Given the description of an element on the screen output the (x, y) to click on. 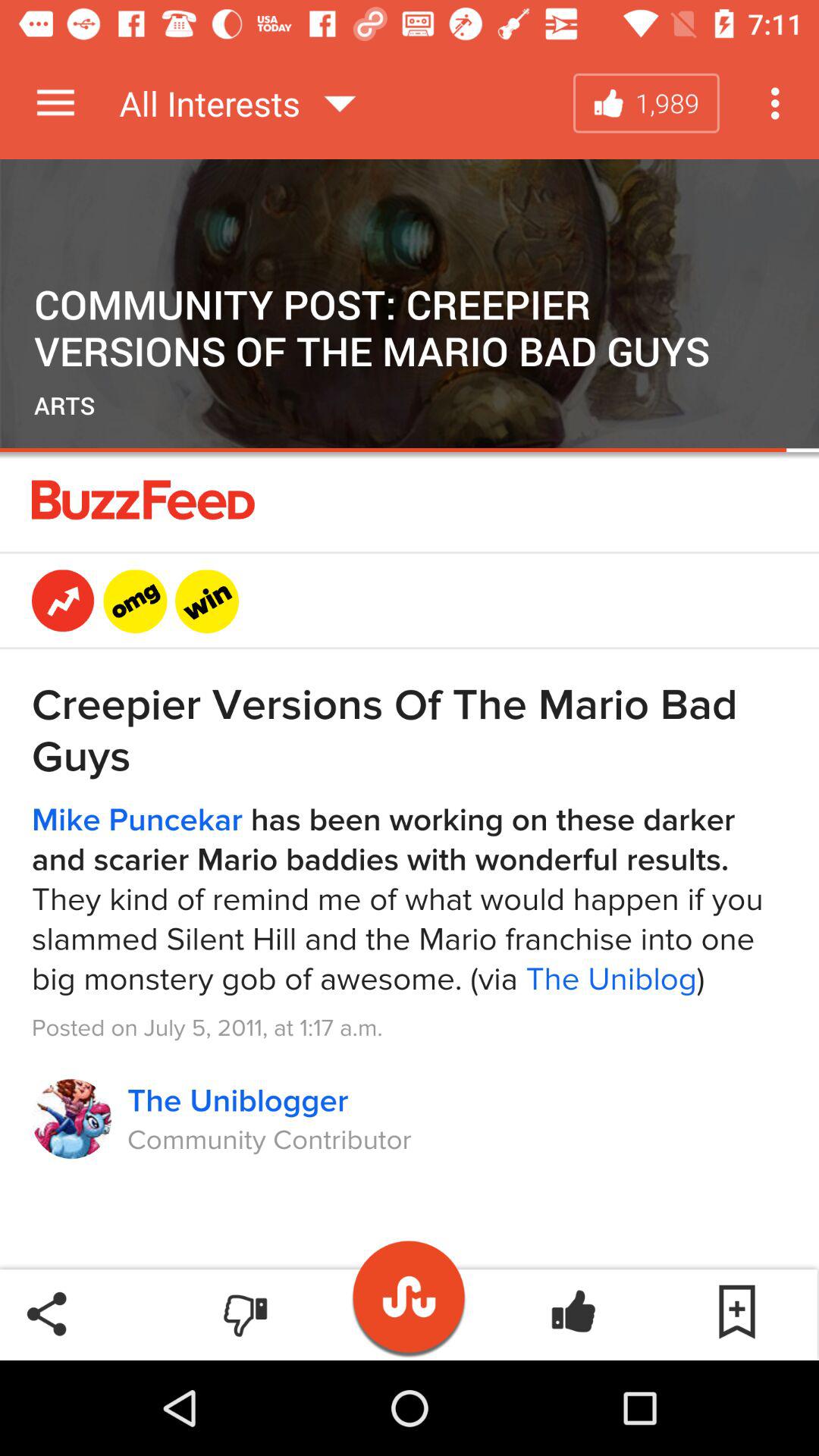
video details (409, 859)
